Given the description of an element on the screen output the (x, y) to click on. 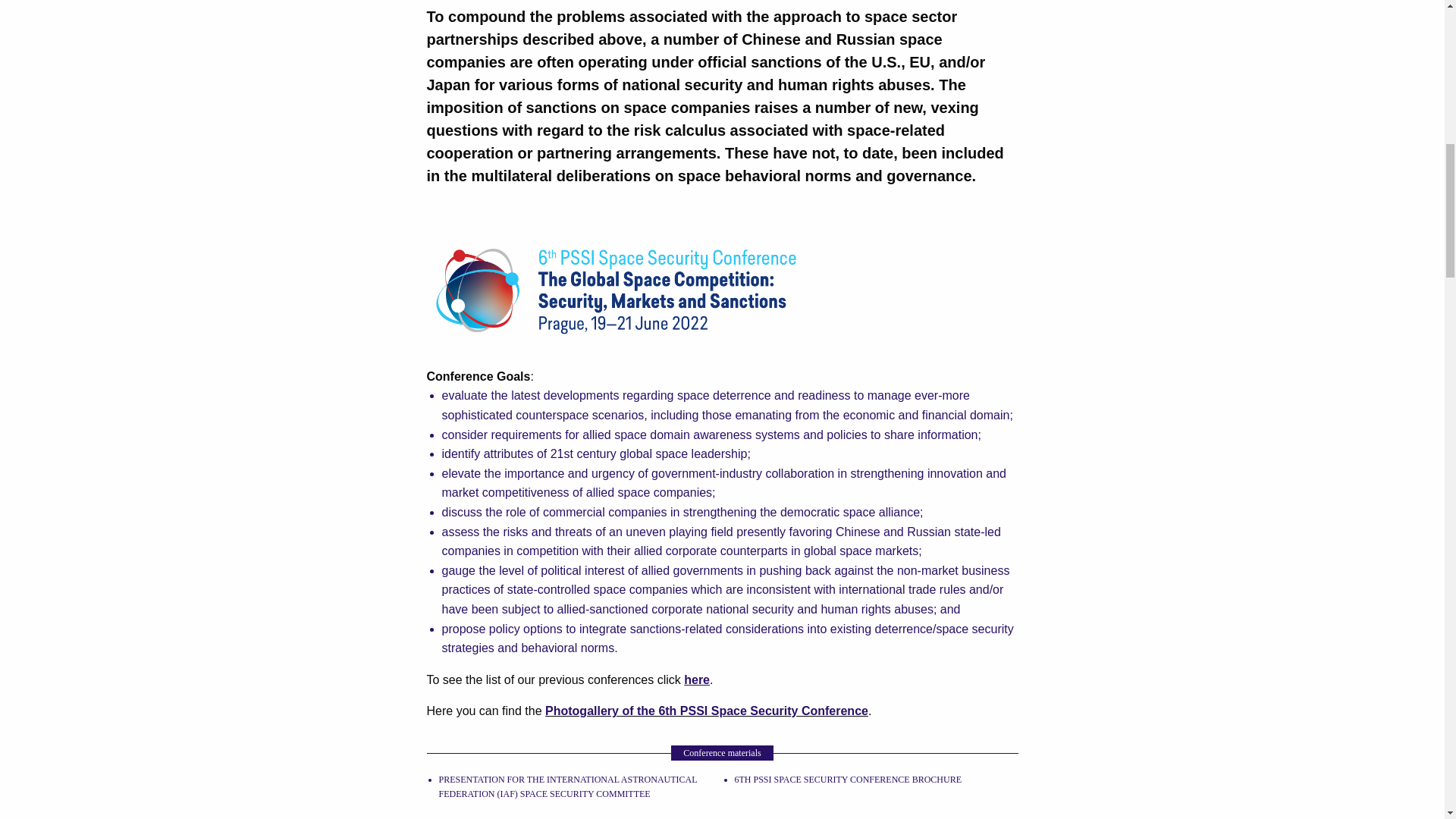
6TH PSSI SPACE SECURITY CONFERENCE BROCHURE (846, 778)
here (697, 679)
Photogallery of the 6th PSSI Space Security Conference (705, 710)
